Given the description of an element on the screen output the (x, y) to click on. 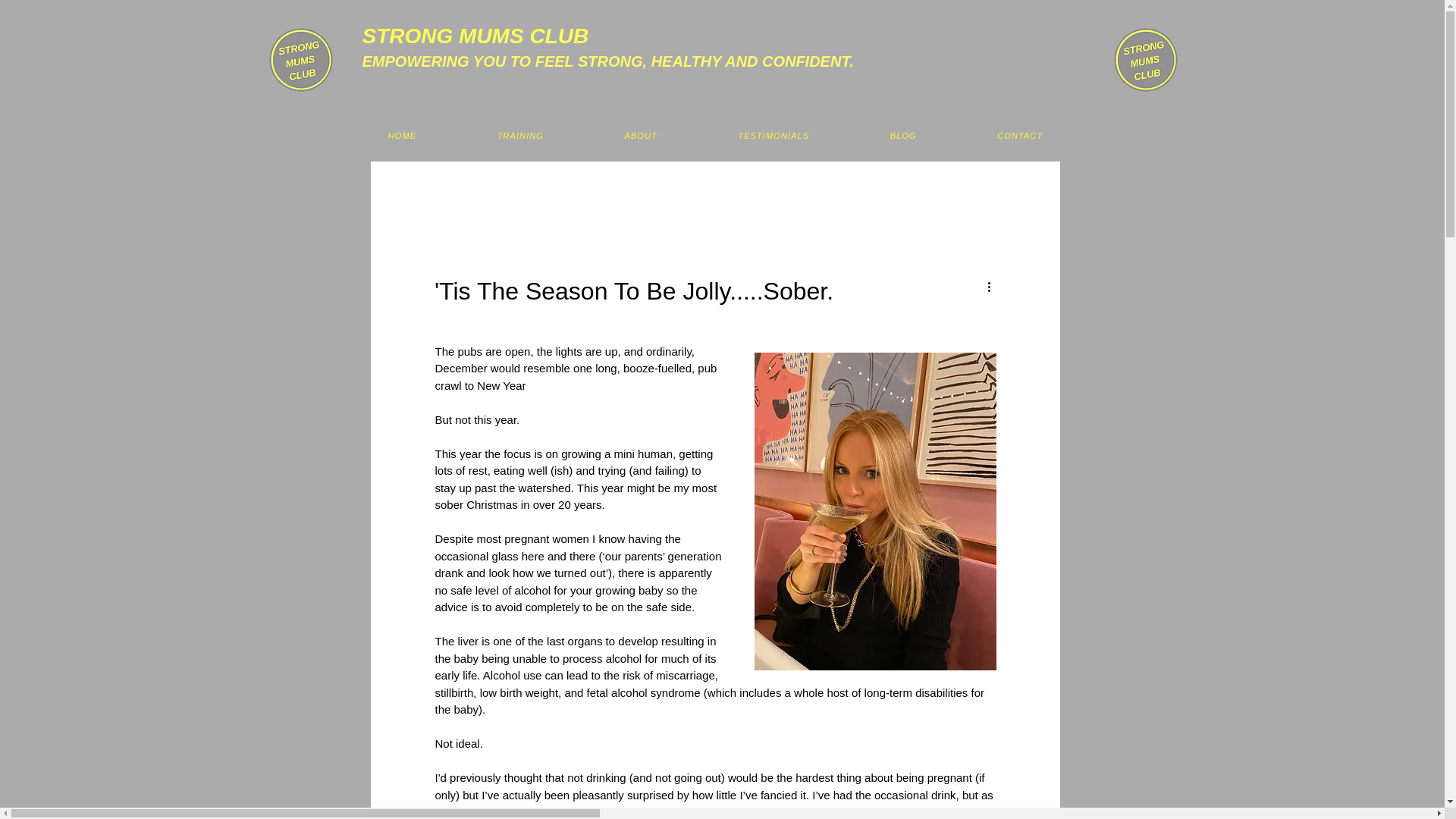
BLOG (902, 135)
TESTIMONIALS (772, 135)
ABOUT (715, 135)
HOME (640, 135)
CONTACT (401, 135)
